Given the description of an element on the screen output the (x, y) to click on. 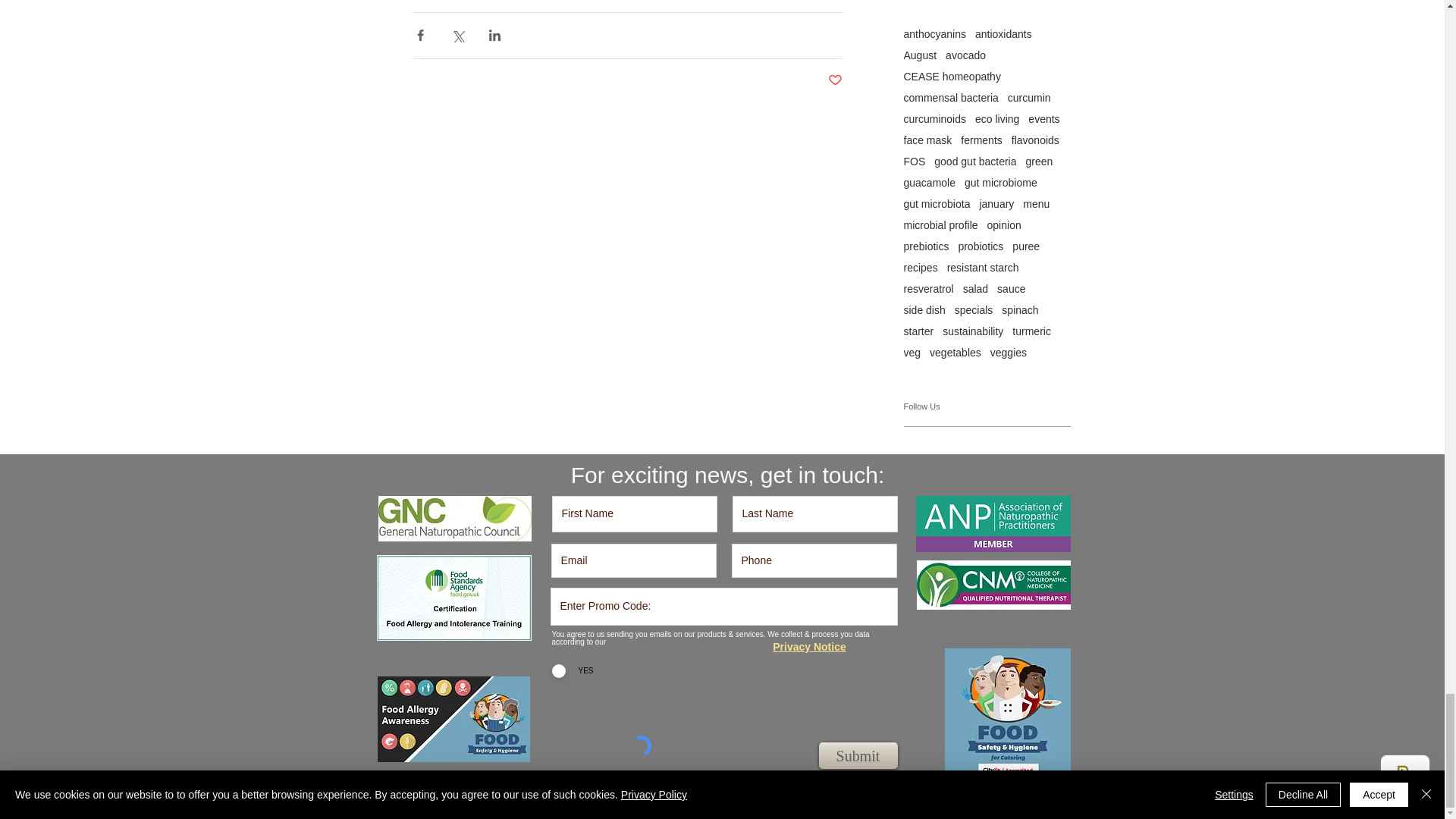
Post not marked as liked (835, 80)
